Given the description of an element on the screen output the (x, y) to click on. 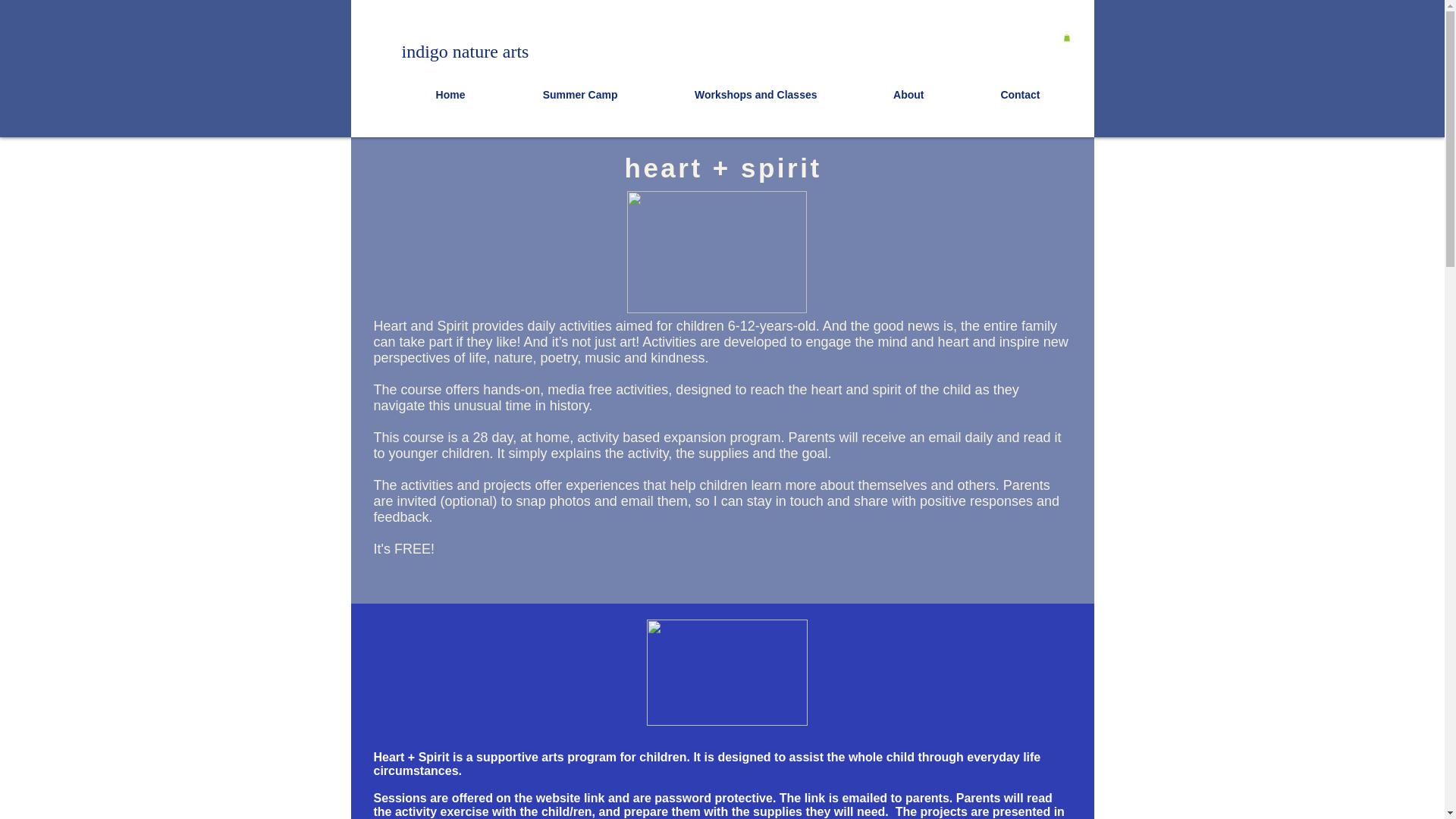
About (881, 94)
Home (423, 94)
Workshops and Classes (728, 94)
zoe-painting.JPG (726, 672)
Summer Camp (552, 94)
Contact (993, 94)
